Given the description of an element on the screen output the (x, y) to click on. 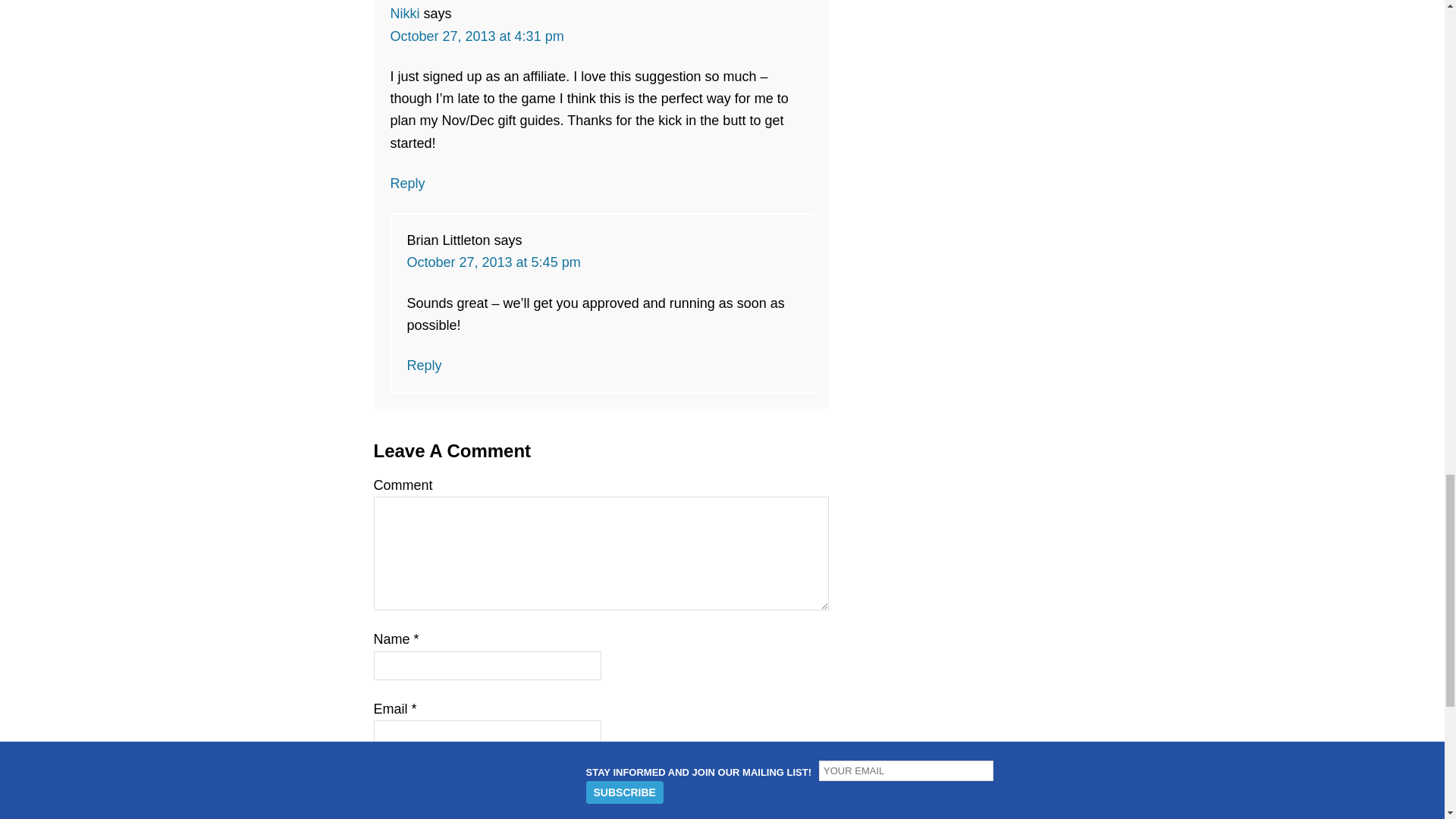
Nikki (404, 13)
Reply (423, 365)
October 27, 2013 at 5:45 pm (492, 262)
October 27, 2013 at 4:31 pm (476, 36)
Reply (407, 183)
